Given the description of an element on the screen output the (x, y) to click on. 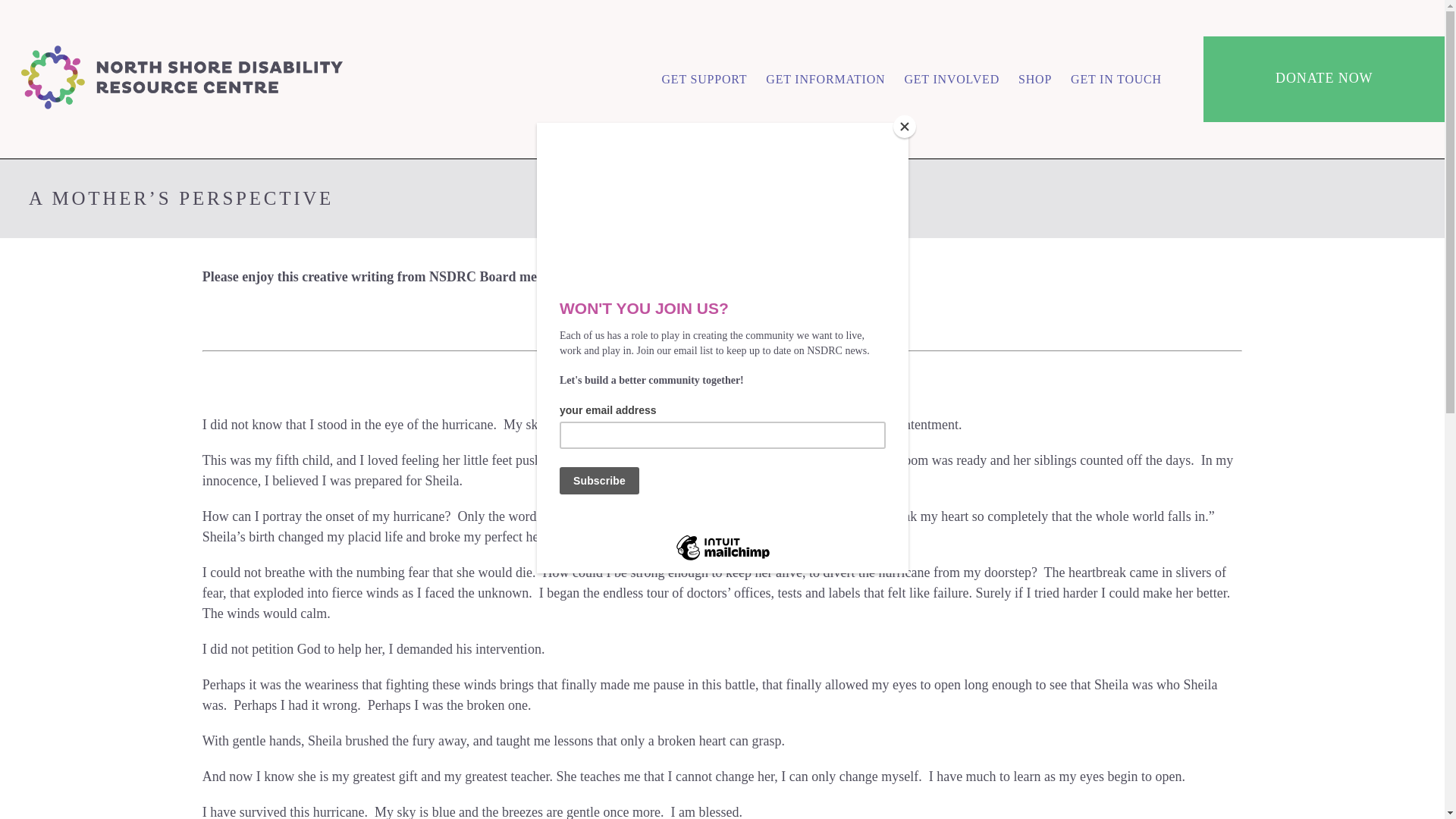
SHOP (1034, 78)
GET INVOLVED (951, 78)
